Given the description of an element on the screen output the (x, y) to click on. 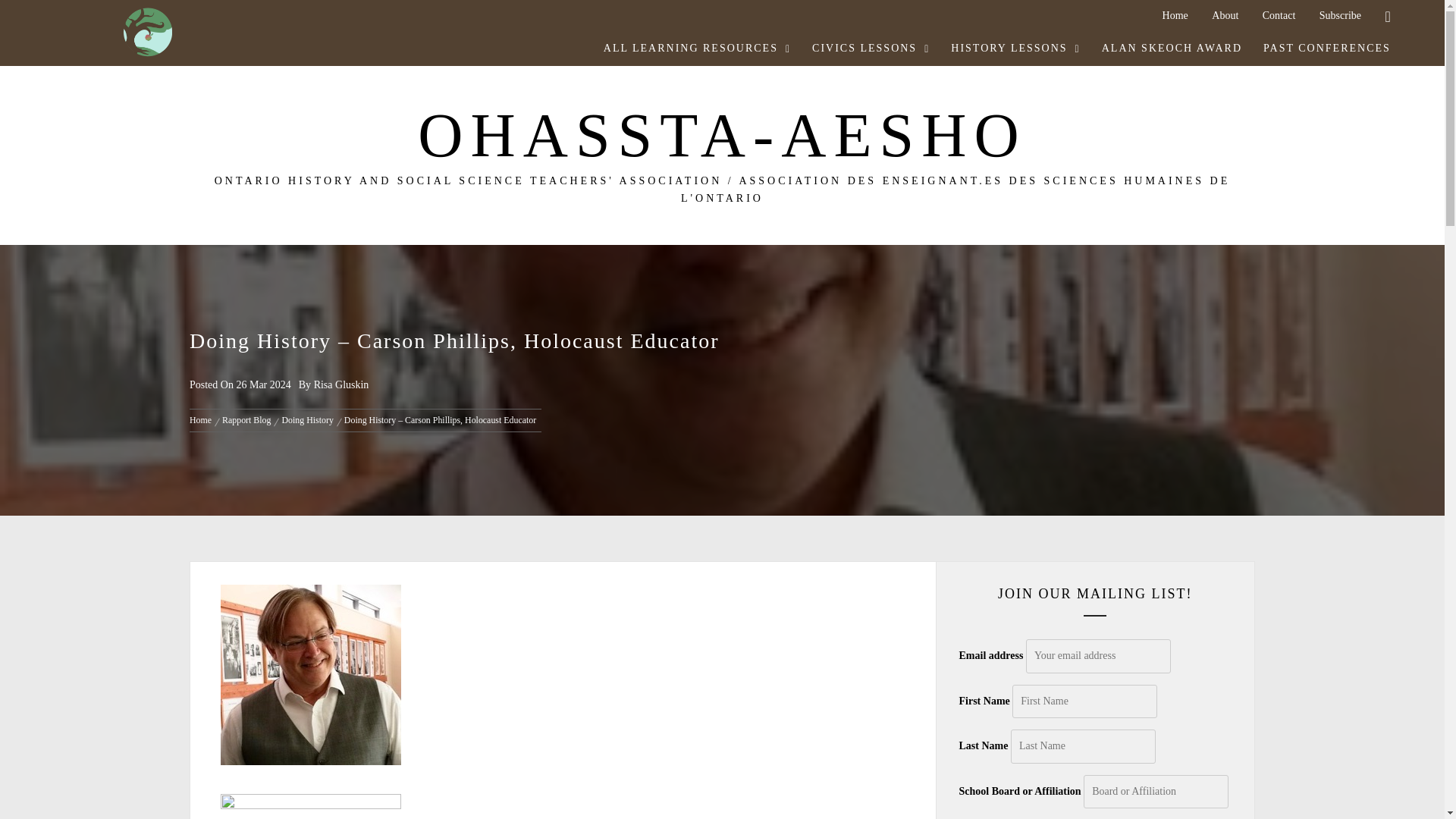
CIVICS LESSONS (871, 48)
Risa Gluskin (341, 384)
Search (797, 407)
ALAN SKEOCH AWARD (1171, 48)
About (1225, 15)
Home (202, 419)
Contact (1278, 15)
Home (1174, 15)
26 Mar 2024 (262, 384)
Subscribe (1340, 15)
ALL LEARNING RESOURCES (697, 48)
HISTORY LESSONS (1015, 48)
OHASSTA-AESHO (721, 134)
Doing History (306, 419)
Rapport Blog (246, 419)
